Given the description of an element on the screen output the (x, y) to click on. 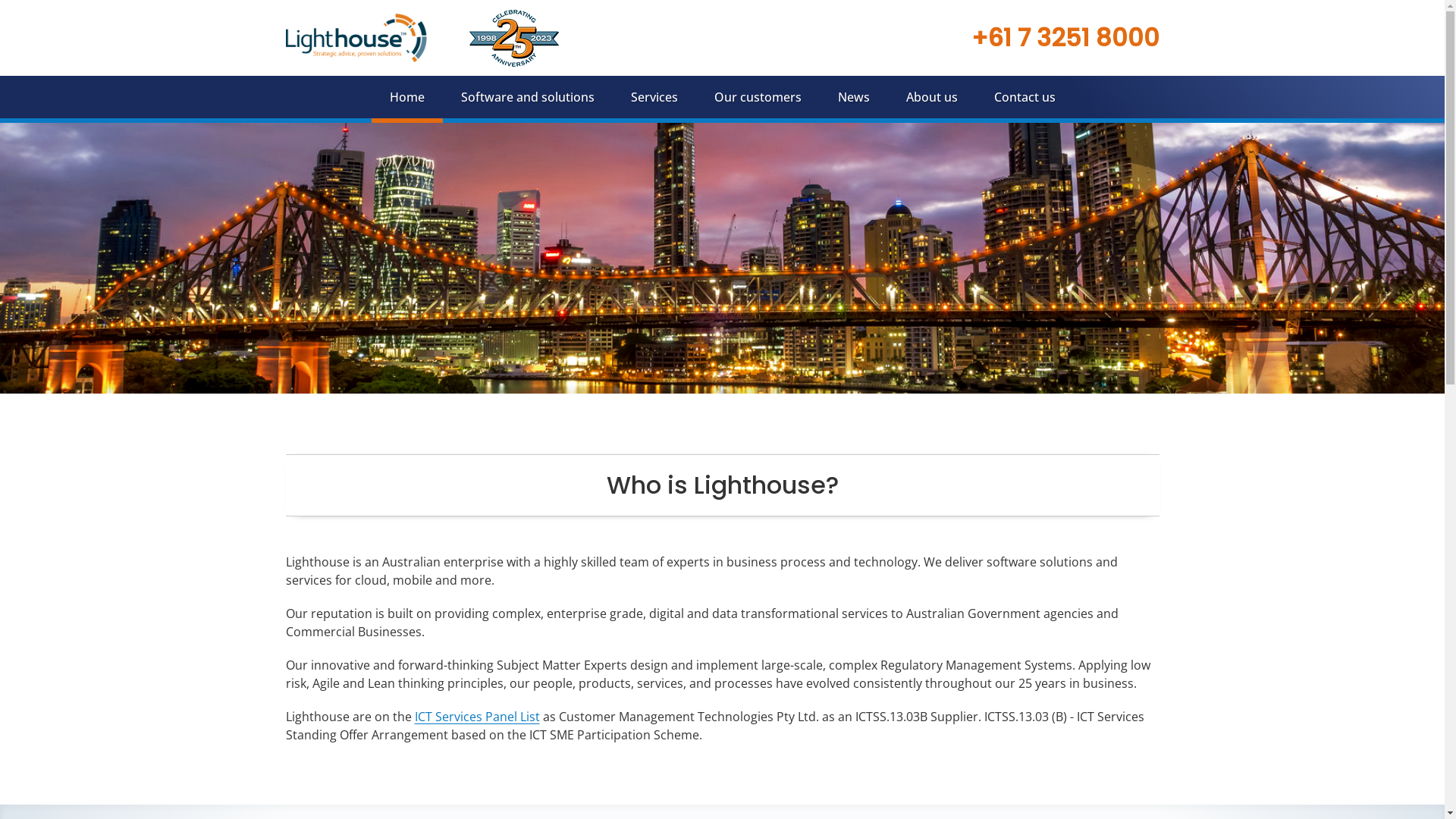
+61 7 3251 8000 Element type: text (1064, 37)
Software and solutions Element type: text (527, 96)
ICT Services Panel List Element type: text (476, 716)
About us Element type: text (931, 96)
Home Element type: text (406, 96)
News Element type: text (853, 96)
Our customers Element type: text (757, 96)
Services Element type: text (654, 96)
Contact us Element type: text (1024, 96)
